Given the description of an element on the screen output the (x, y) to click on. 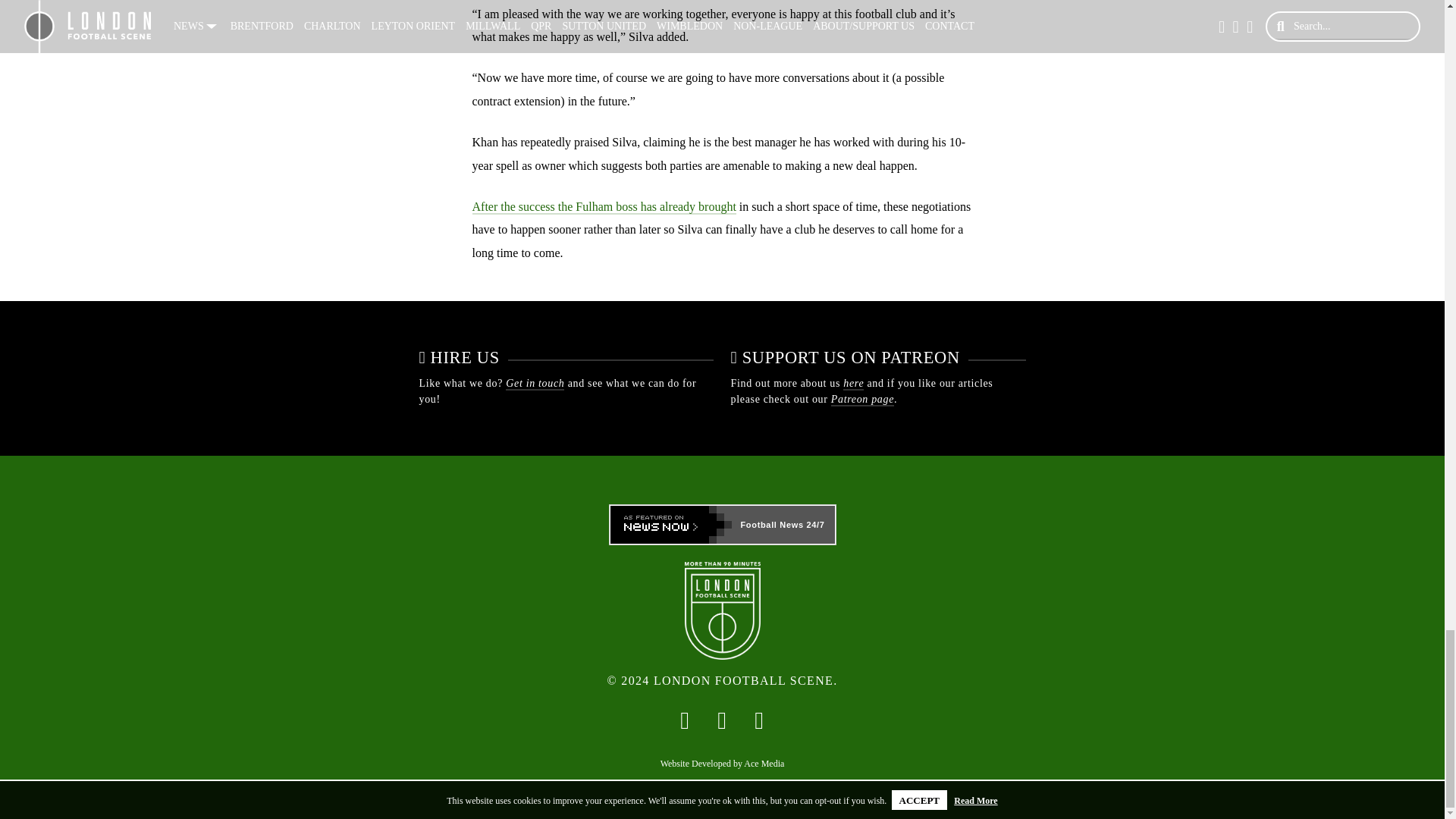
After the success the Fulham boss has already brought (603, 206)
Click here for more Football news from NewsNow (721, 524)
